Given the description of an element on the screen output the (x, y) to click on. 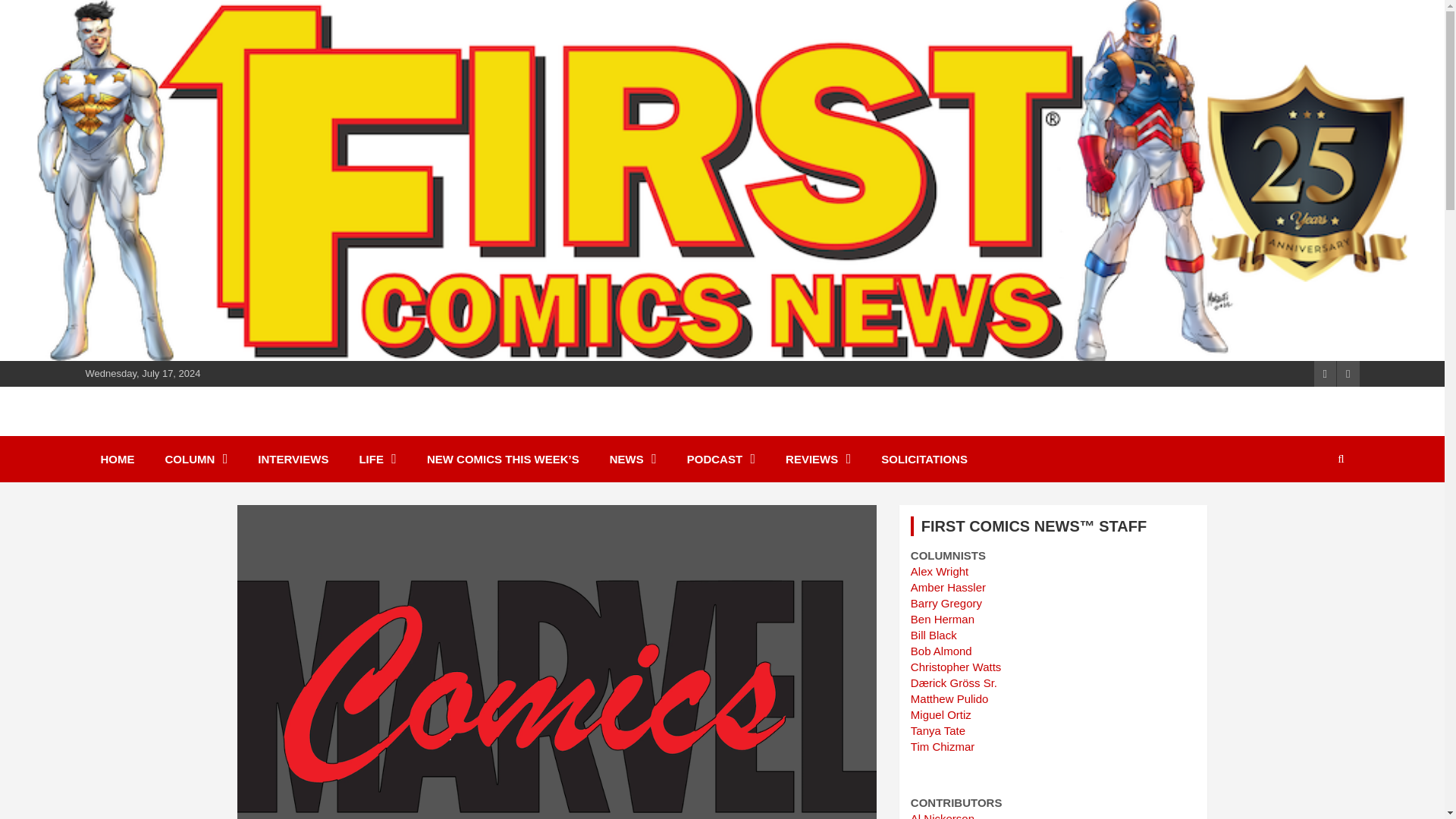
REVIEWS (818, 458)
INTERVIEWS (293, 458)
HOME (116, 458)
COLUMN (196, 458)
PODCAST (720, 458)
LIFE (377, 458)
NEWS (632, 458)
First Comics News (220, 428)
